Given the description of an element on the screen output the (x, y) to click on. 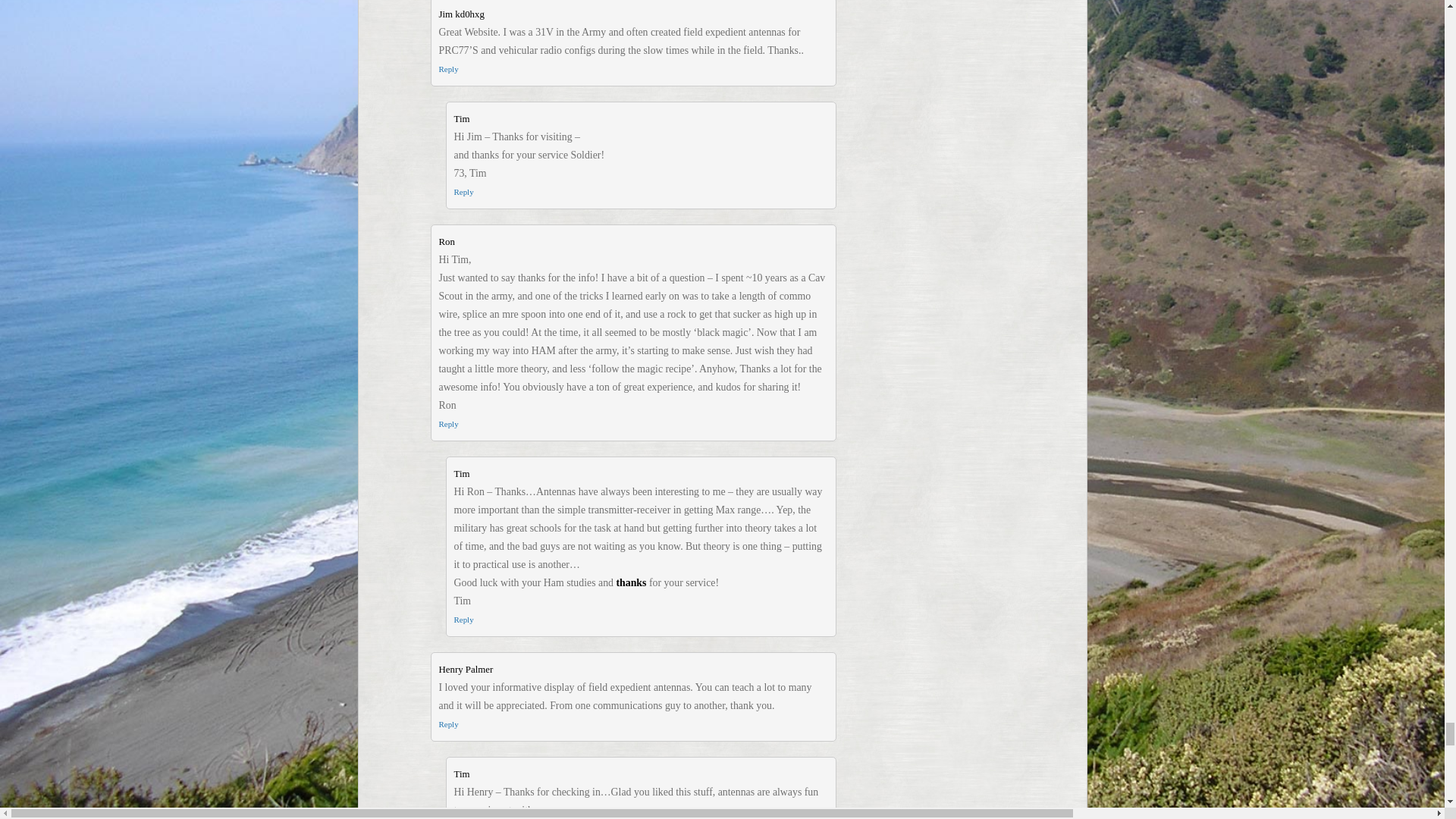
Reply (462, 191)
Reply (462, 619)
Reply (448, 423)
Reply (448, 723)
Reply (448, 68)
